Given the description of an element on the screen output the (x, y) to click on. 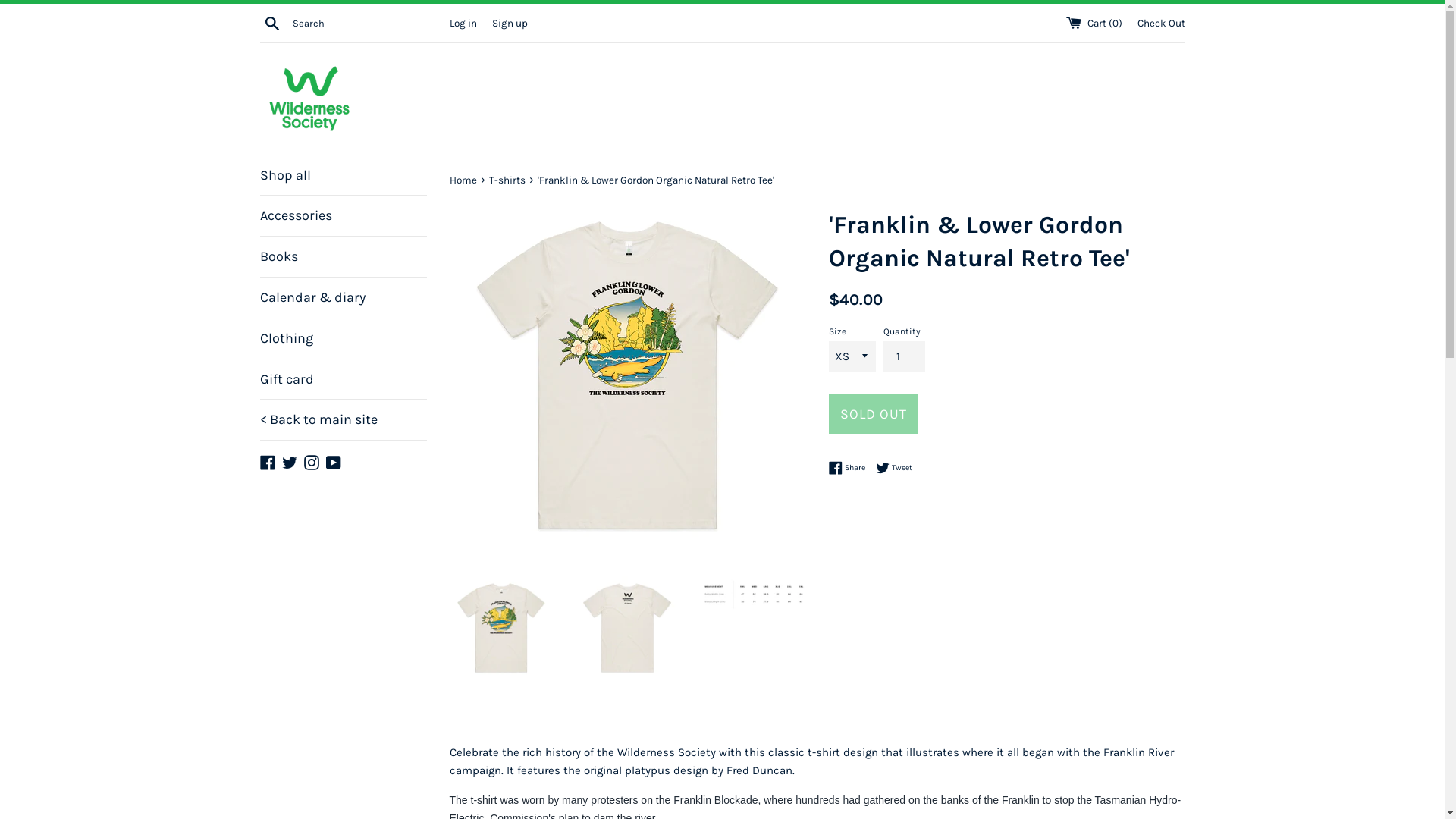
Search Element type: text (271, 21)
Share
Share on Facebook Element type: text (850, 467)
Books Element type: text (342, 256)
Instagram Element type: text (310, 460)
Accessories Element type: text (342, 215)
Calendar & diary Element type: text (342, 297)
Clothing Element type: text (342, 338)
Sign up Element type: text (509, 22)
Gift card Element type: text (342, 379)
< Back to main site Element type: text (342, 419)
Log in Element type: text (462, 22)
Facebook Element type: text (266, 460)
YouTube Element type: text (333, 460)
Shop all Element type: text (342, 175)
Twitter Element type: text (289, 460)
Cart (0) Element type: text (1095, 22)
Home Element type: text (463, 179)
Tweet
Tweet on Twitter Element type: text (893, 467)
SOLD OUT Element type: text (872, 413)
Check Out Element type: text (1161, 22)
T-shirts Element type: text (507, 179)
